Given the description of an element on the screen output the (x, y) to click on. 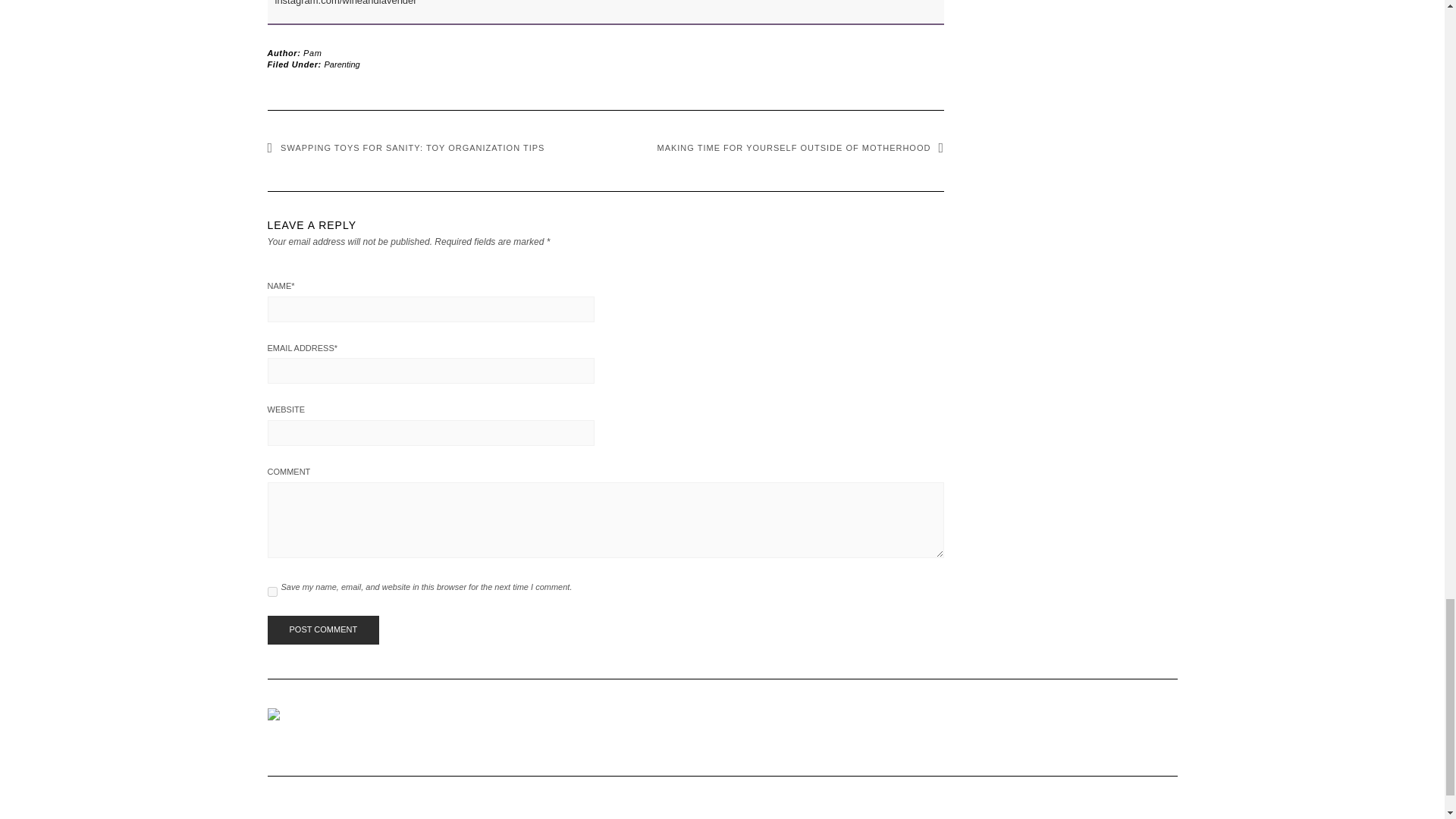
Post Comment (322, 629)
Parenting (341, 63)
MAKING TIME FOR YOURSELF OUTSIDE OF MOTHERHOOD (799, 147)
SWAPPING TOYS FOR SANITY: TOY ORGANIZATION TIPS (405, 147)
yes (271, 592)
Pam (311, 52)
Posts by Pam (311, 52)
Post Comment (322, 629)
